Given the description of an element on the screen output the (x, y) to click on. 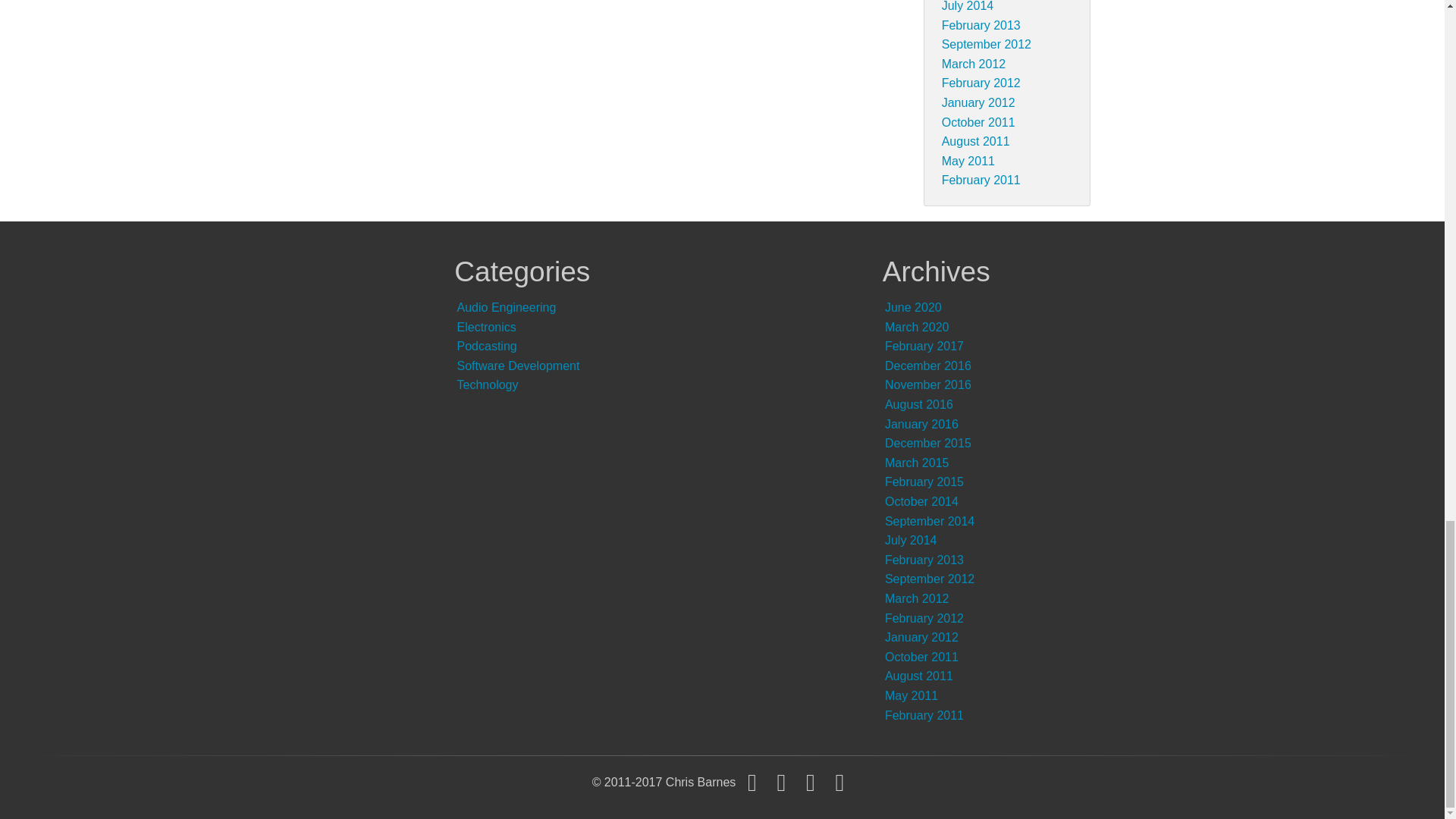
September 2012 (986, 43)
July 2014 (968, 6)
February 2012 (981, 82)
February 2013 (981, 24)
August 2011 (976, 141)
March 2012 (974, 63)
January 2012 (978, 102)
October 2011 (978, 122)
February 2011 (981, 179)
May 2011 (968, 160)
